Given the description of an element on the screen output the (x, y) to click on. 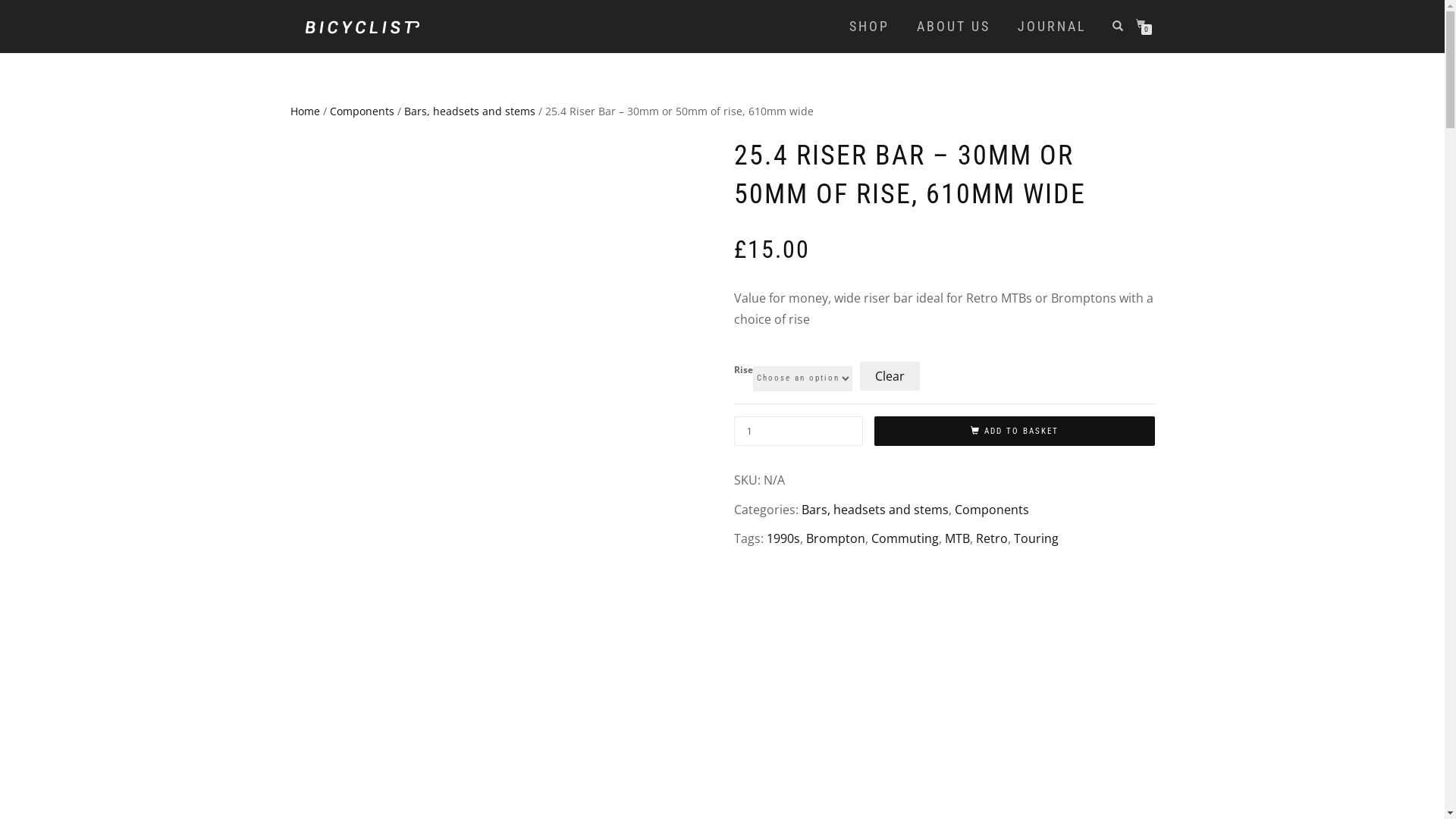
Bars, headsets and stems Element type: text (873, 508)
ADD TO BASKET Element type: text (1013, 431)
Retro Element type: text (991, 538)
1990s Element type: text (782, 538)
MTB Element type: text (956, 538)
JOURNAL Element type: text (1051, 26)
Home Element type: text (304, 110)
Components Element type: text (990, 508)
Commuting Element type: text (904, 538)
Touring Element type: text (1035, 538)
Components Element type: text (361, 110)
0 Element type: text (1143, 24)
ABOUT US Element type: text (953, 26)
Brompton Element type: text (834, 538)
Bars, headsets and stems Element type: text (468, 110)
SHOP Element type: text (868, 26)
Clear Element type: text (889, 375)
